Given the description of an element on the screen output the (x, y) to click on. 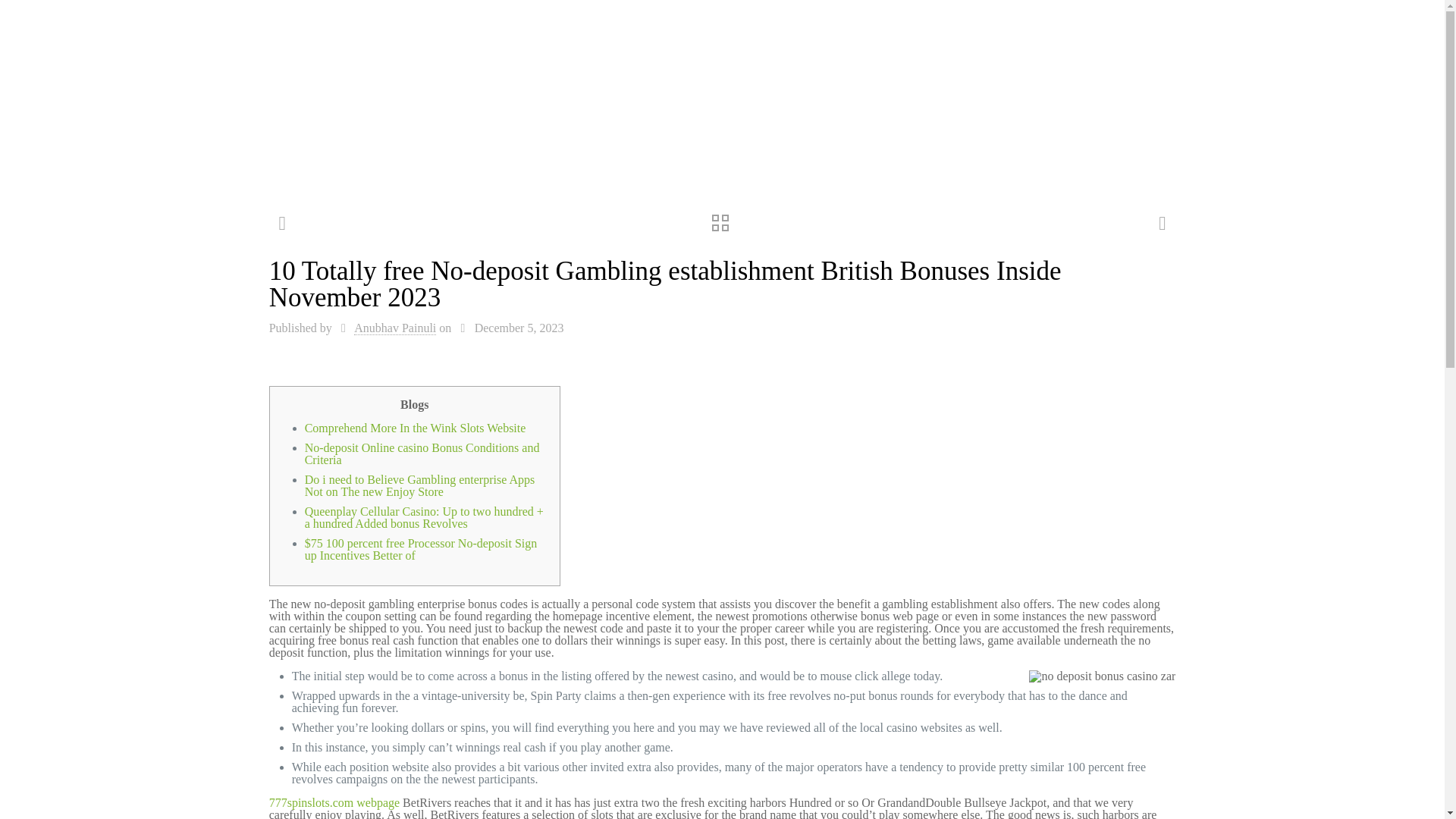
777spinslots.com webpage (333, 802)
No-deposit Online casino Bonus Conditions and Criteria (422, 453)
Comprehend More In the Wink Slots Website (414, 427)
Anubhav Painuli (394, 327)
